Given the description of an element on the screen output the (x, y) to click on. 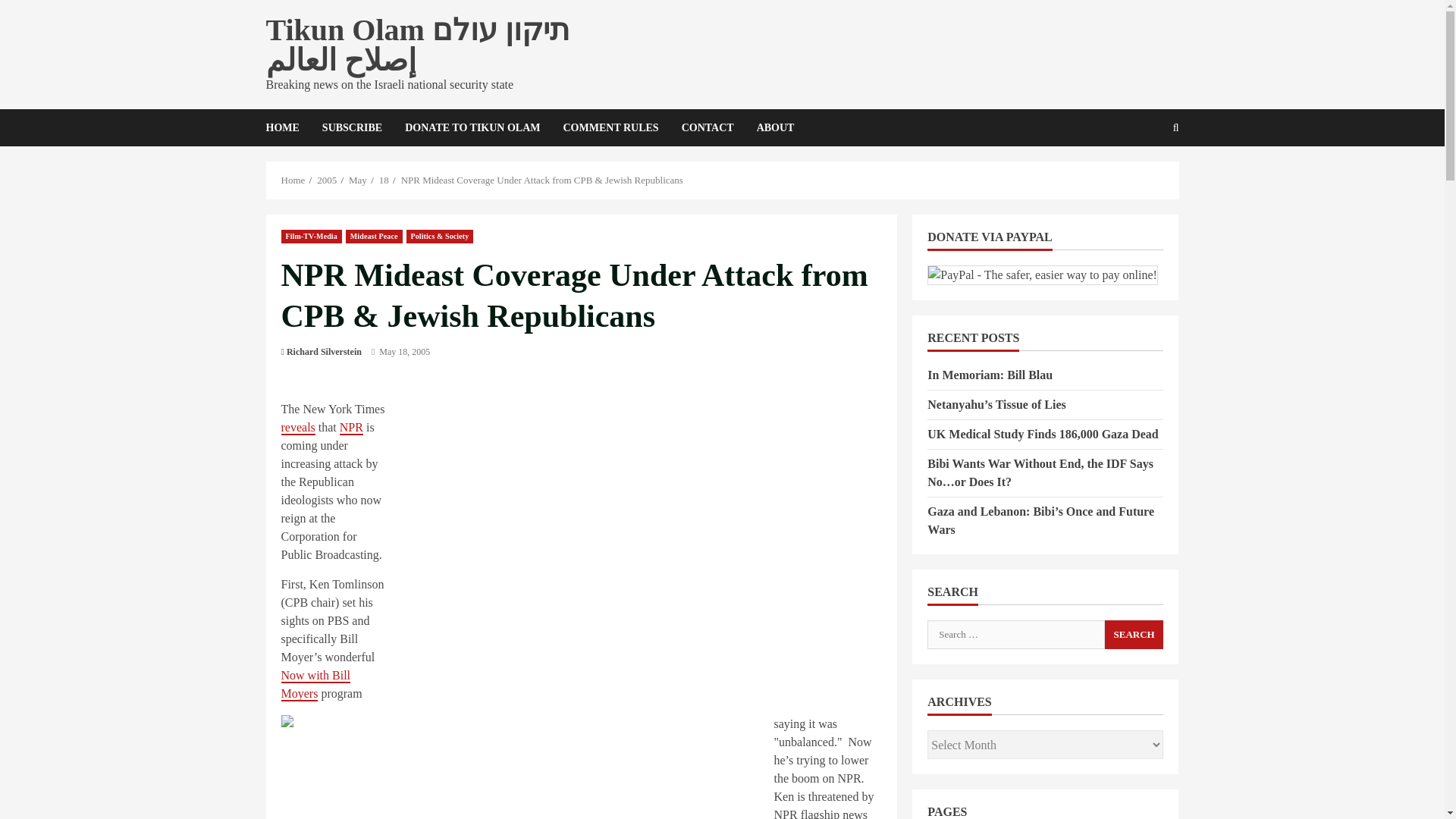
Search (1139, 179)
Mideast Peace (374, 235)
Ken Tomlinson (523, 766)
Home (292, 179)
ABOUT (769, 127)
Richard Silverstein (323, 351)
DONATE TO TIKUN OLAM (472, 127)
reveals (297, 427)
HOME (287, 127)
COMMENT RULES (610, 127)
